Given the description of an element on the screen output the (x, y) to click on. 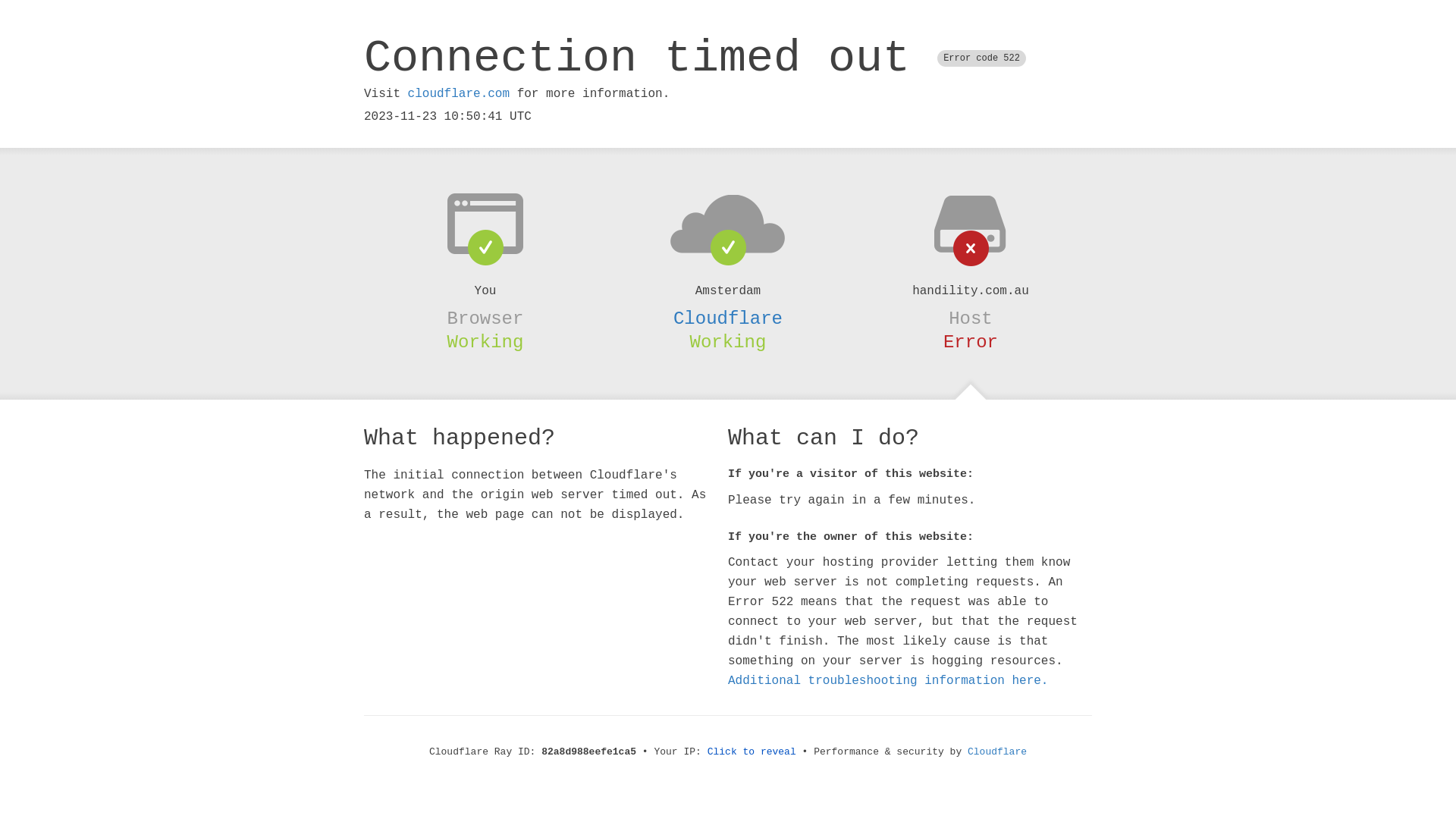
Cloudflare Element type: text (996, 751)
Click to reveal Element type: text (751, 751)
Additional troubleshooting information here. Element type: text (888, 680)
Cloudflare Element type: text (727, 318)
cloudflare.com Element type: text (458, 93)
